Given the description of an element on the screen output the (x, y) to click on. 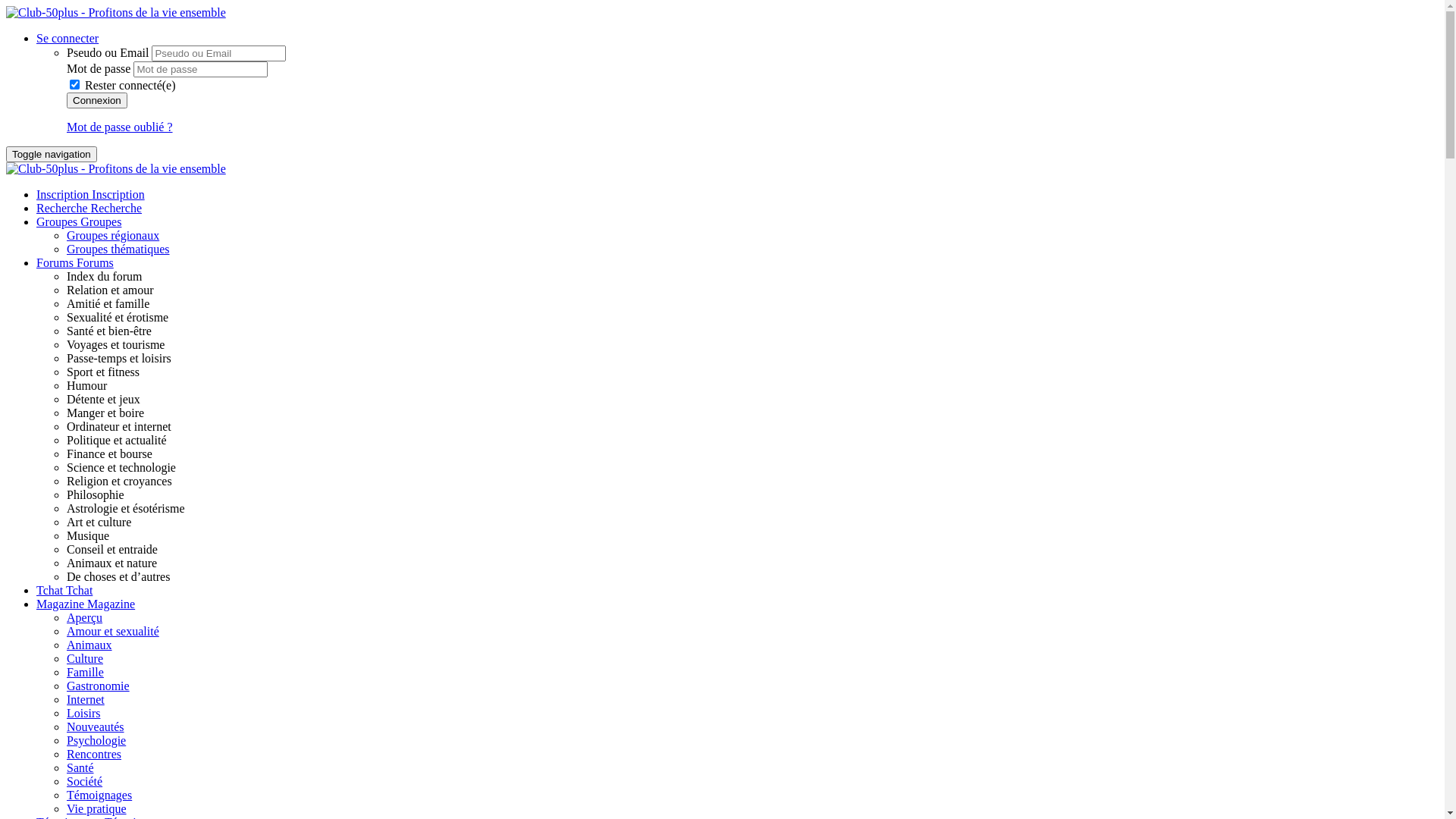
Groupes Element type: text (58, 221)
Famille Element type: text (84, 671)
Animaux et nature Element type: text (111, 562)
Connexion Element type: text (96, 100)
Inscription Element type: text (117, 194)
Forums Element type: text (94, 262)
Manger et boire Element type: text (105, 412)
Groupes Element type: text (100, 221)
Loisirs Element type: text (83, 712)
Conseil et entraide Element type: text (111, 548)
Relation et amour Element type: text (109, 289)
Se connecter Element type: text (67, 37)
Ordinateur et internet Element type: text (118, 426)
Musique Element type: text (87, 535)
Magazine Element type: text (61, 603)
Humour Element type: text (86, 385)
Magazine Element type: text (110, 603)
Index du forum Element type: text (104, 275)
Art et culture Element type: text (98, 521)
Gastronomie Element type: text (97, 685)
Recherche Element type: text (116, 207)
Sport et fitness Element type: text (102, 371)
Inscription Element type: text (63, 194)
Rencontres Element type: text (93, 753)
Animaux Element type: text (89, 644)
Toggle navigation Element type: text (51, 154)
Voyages et tourisme Element type: text (115, 344)
Internet Element type: text (85, 699)
Philosophie Element type: text (95, 494)
Tchat Element type: text (78, 589)
Finance et bourse Element type: text (109, 453)
Psychologie Element type: text (95, 740)
Science et technologie Element type: text (120, 467)
Religion et croyances Element type: text (119, 480)
Culture Element type: text (84, 658)
Vie pratique Element type: text (96, 808)
Tchat Element type: text (50, 589)
Forums Element type: text (56, 262)
Passe-temps et loisirs Element type: text (118, 357)
Recherche Element type: text (63, 207)
